Given the description of an element on the screen output the (x, y) to click on. 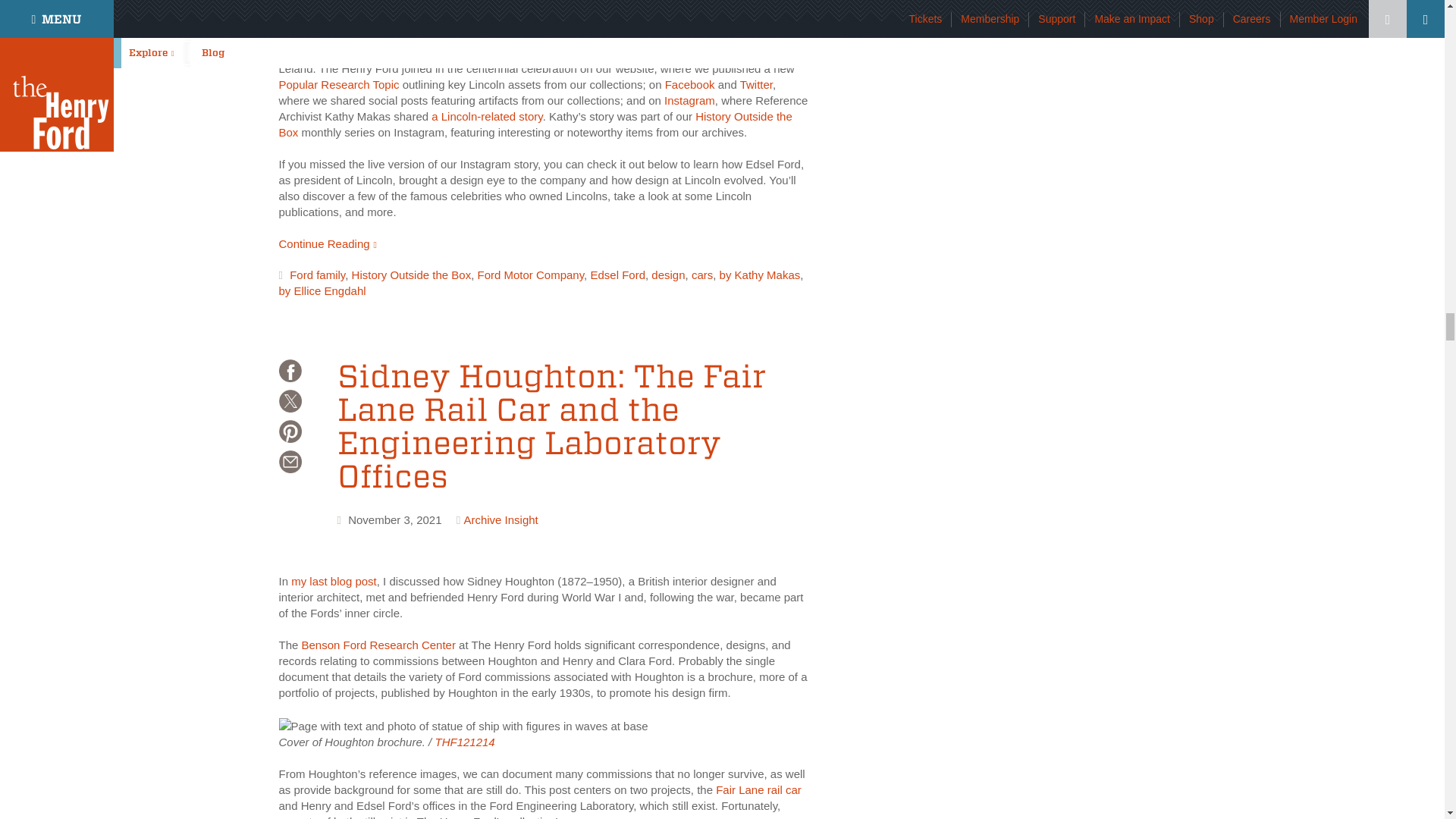
Digital Collections (457, 20)
Our Lincoln story on Instagram (485, 115)
Learn more about the Benson Ford Research Center (378, 644)
The Henry Ford's Instagram account (688, 100)
History Outside the Box webpage (535, 123)
The Henry Ford blog (334, 581)
Popular Research Topics (338, 83)
Digital Collections (759, 789)
